Given the description of an element on the screen output the (x, y) to click on. 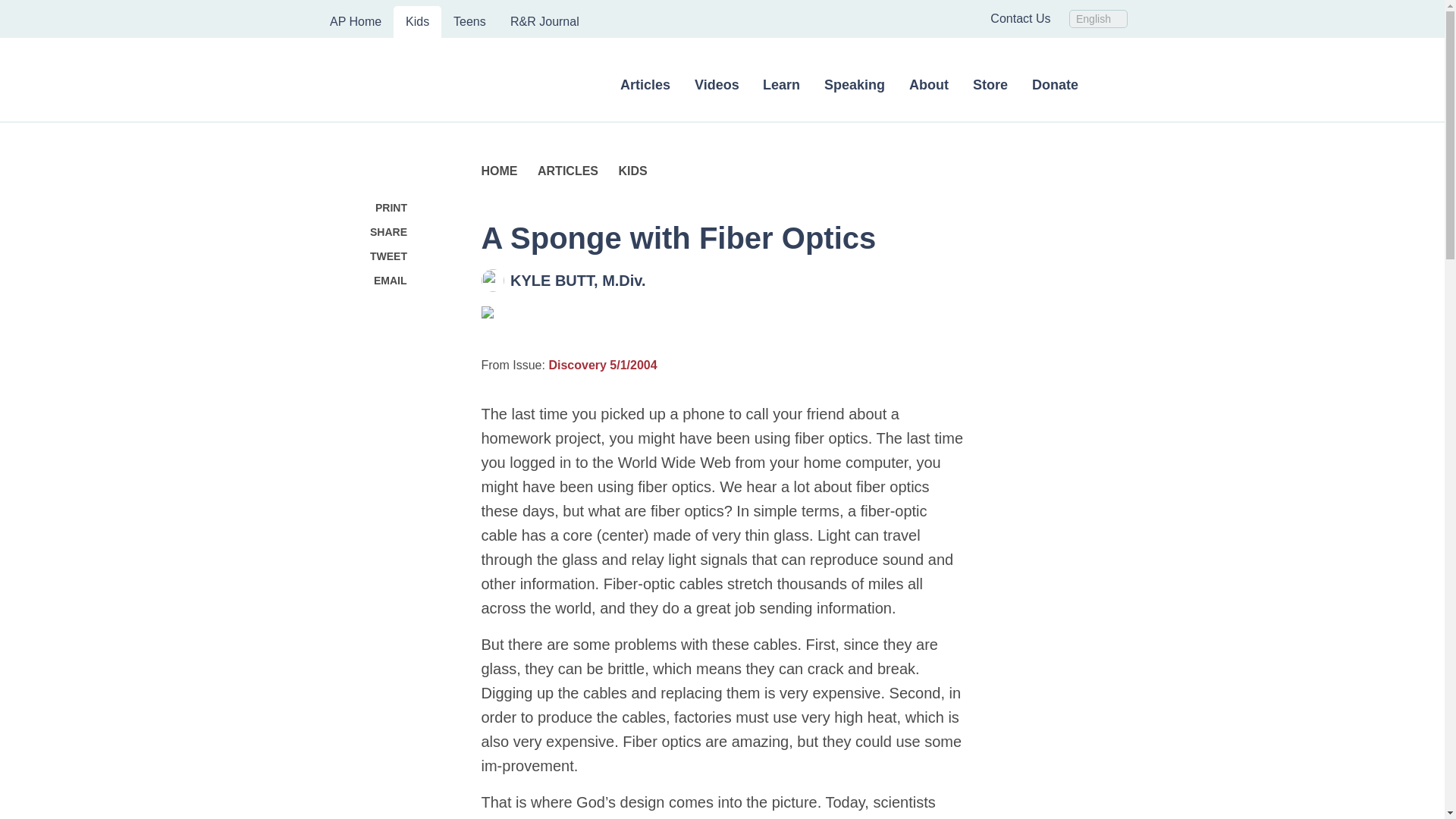
Teens (469, 21)
Kids (417, 21)
AP Home (355, 21)
Articles (645, 90)
Apologetics Press (439, 79)
Contact Us (1019, 18)
Videos (716, 90)
